Given the description of an element on the screen output the (x, y) to click on. 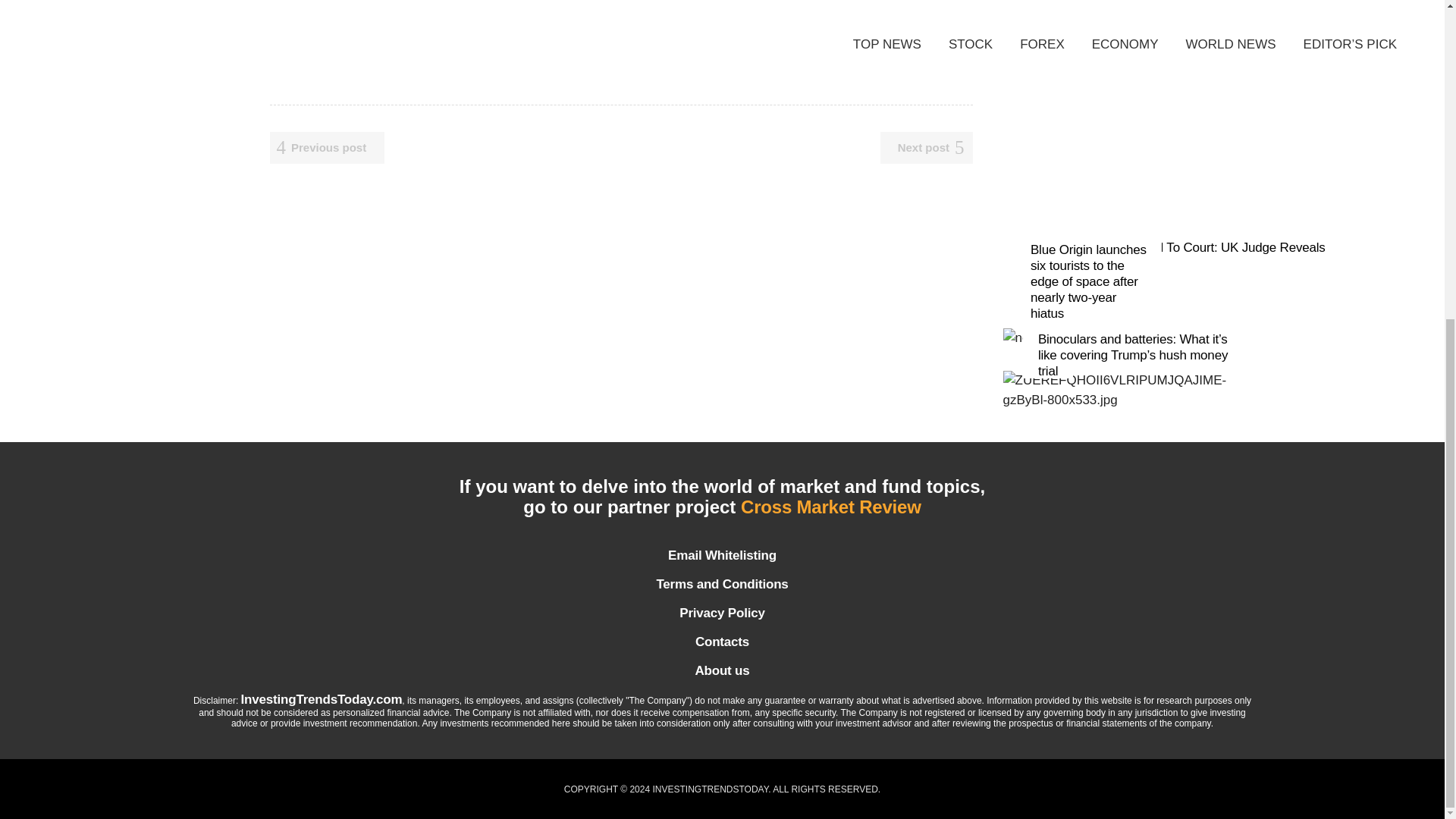
Craig Wright Lied To Court: UK Judge Reveals (1195, 247)
Previous post (327, 147)
Cross Market Review (831, 509)
Next post (926, 147)
Email Whitelisting (721, 555)
Craig Wright Lied To Court: UK Judge Reveals (1195, 247)
